Given the description of an element on the screen output the (x, y) to click on. 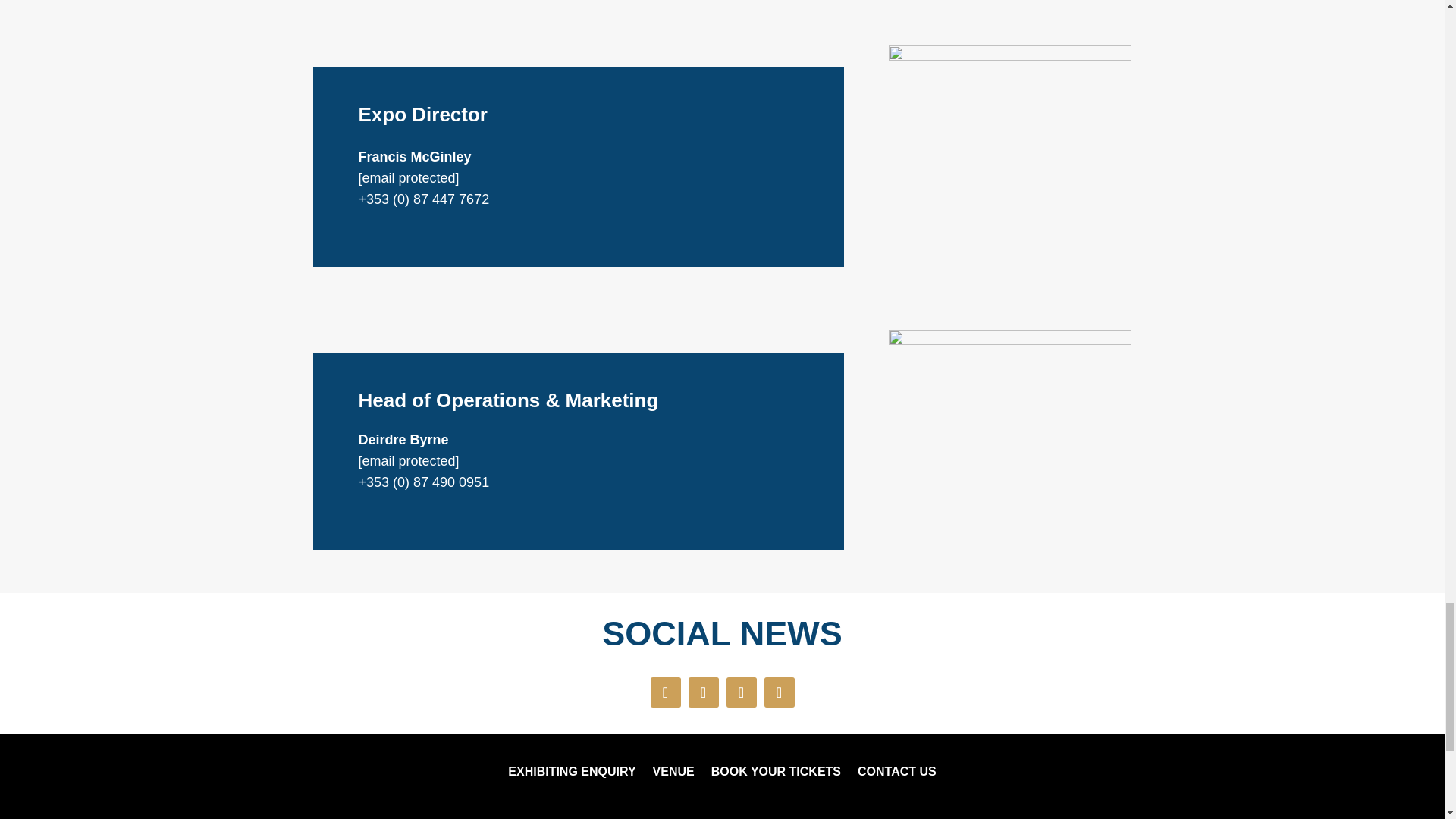
Follow on LinkedIn (779, 692)
CONTACT US (896, 774)
Follow on Instagram (741, 692)
Follow on X (703, 692)
EXHIBITING ENQUIRY (571, 774)
BOOK YOUR TICKETS (776, 774)
VENUE (673, 774)
Follow on Facebook (665, 692)
Screenshot 2023-11-23 123314 (1009, 451)
